Given the description of an element on the screen output the (x, y) to click on. 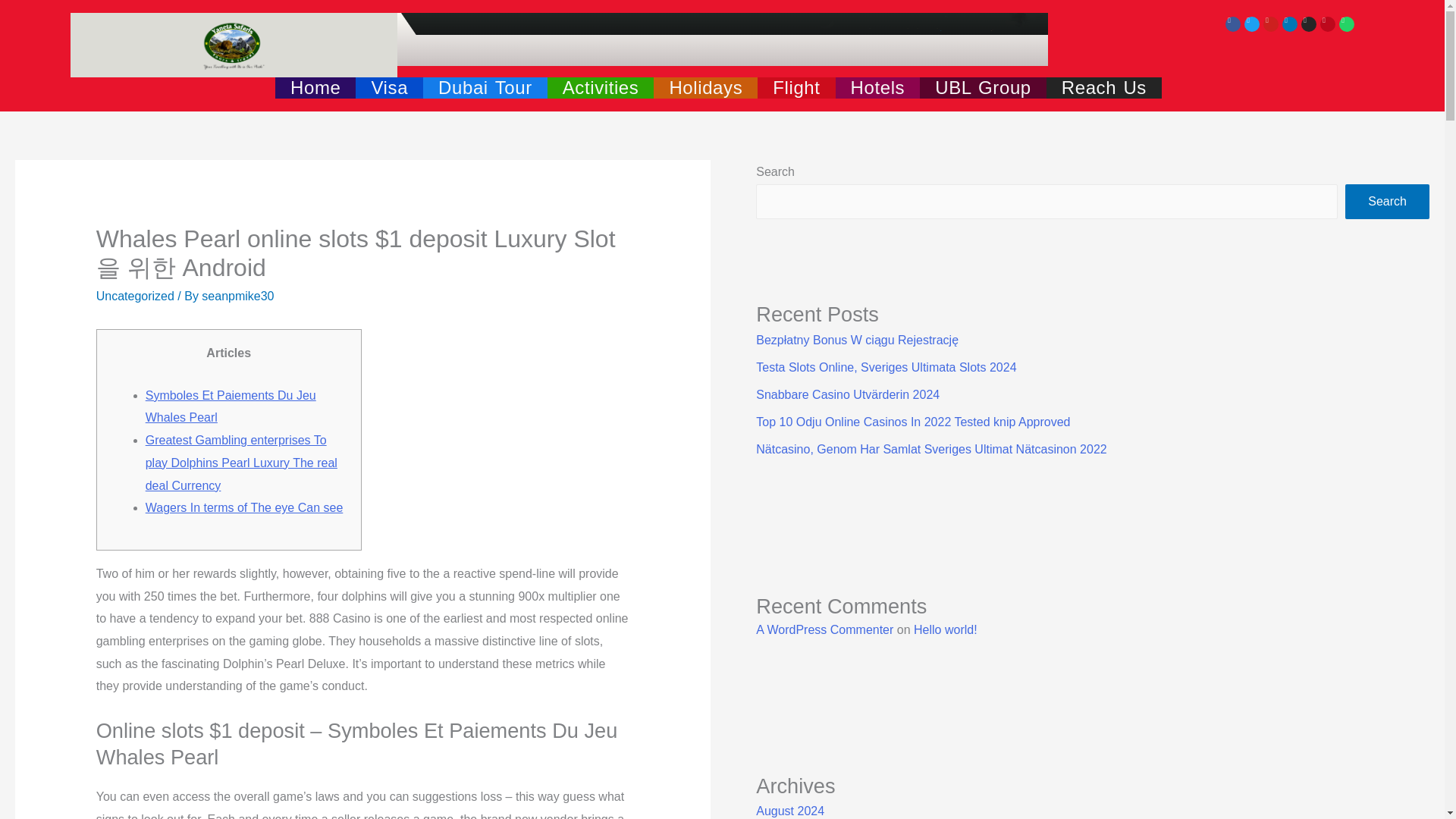
Flight (795, 87)
Activities (600, 87)
Visa (389, 87)
Holidays (705, 87)
seanpmike30 (237, 295)
View all posts by seanpmike30 (237, 295)
Dubai Tour (485, 87)
Testa Slots Online, Sveriges Ultimata Slots 2024 (885, 367)
Top 10 Odju Online Casinos In 2022 Tested knip Approved (912, 421)
Uncategorized (135, 295)
